Given the description of an element on the screen output the (x, y) to click on. 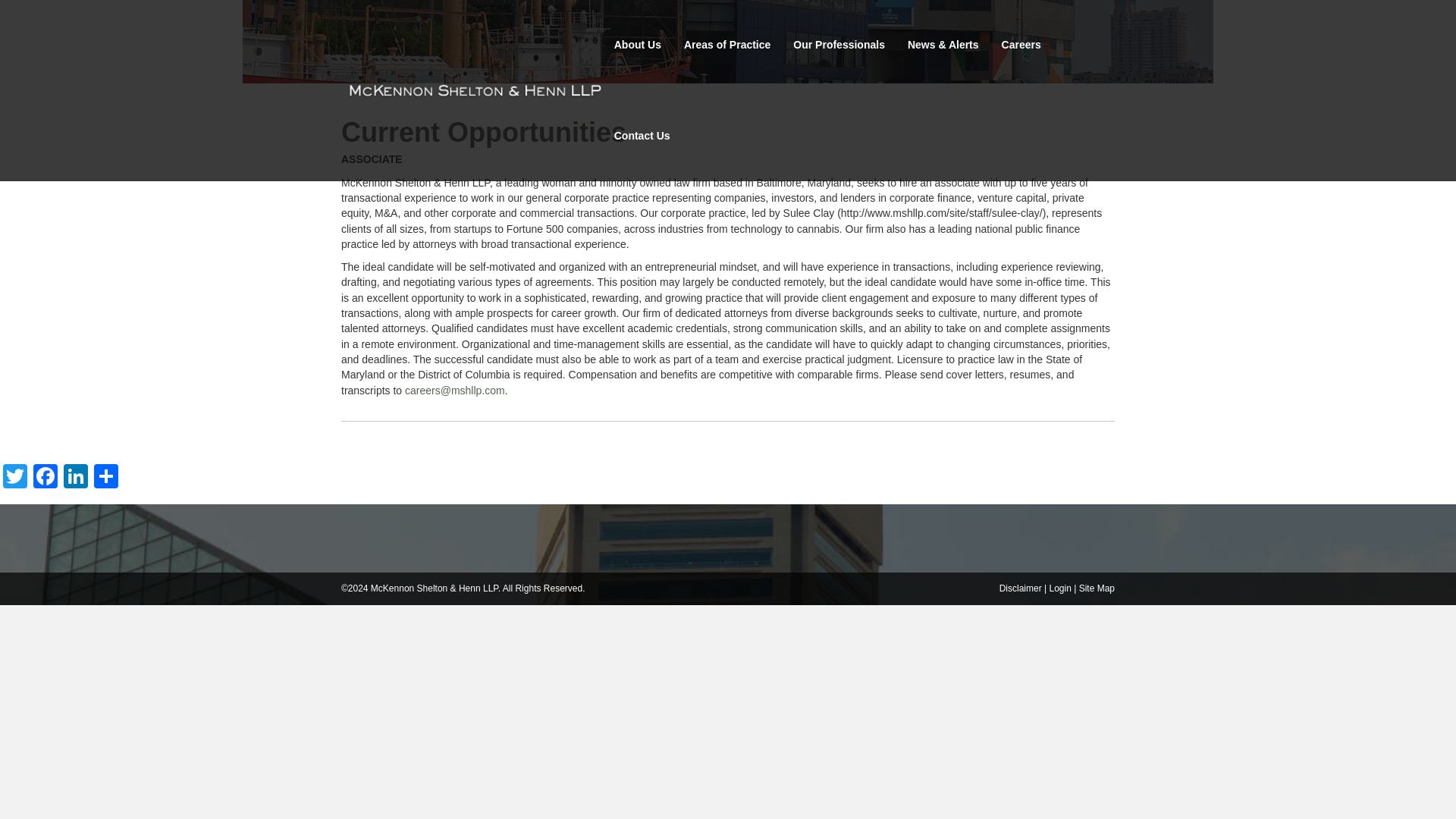
LinkedIn (75, 478)
Twitter (15, 478)
Facebook (45, 478)
Our Professionals (838, 45)
Share (105, 478)
Twitter (15, 478)
LinkedIn (75, 478)
Site Map (1096, 588)
Disclaimer (1020, 588)
Areas of Practice (726, 45)
bg-header (727, 41)
Login (1059, 588)
Facebook (45, 478)
